Given the description of an element on the screen output the (x, y) to click on. 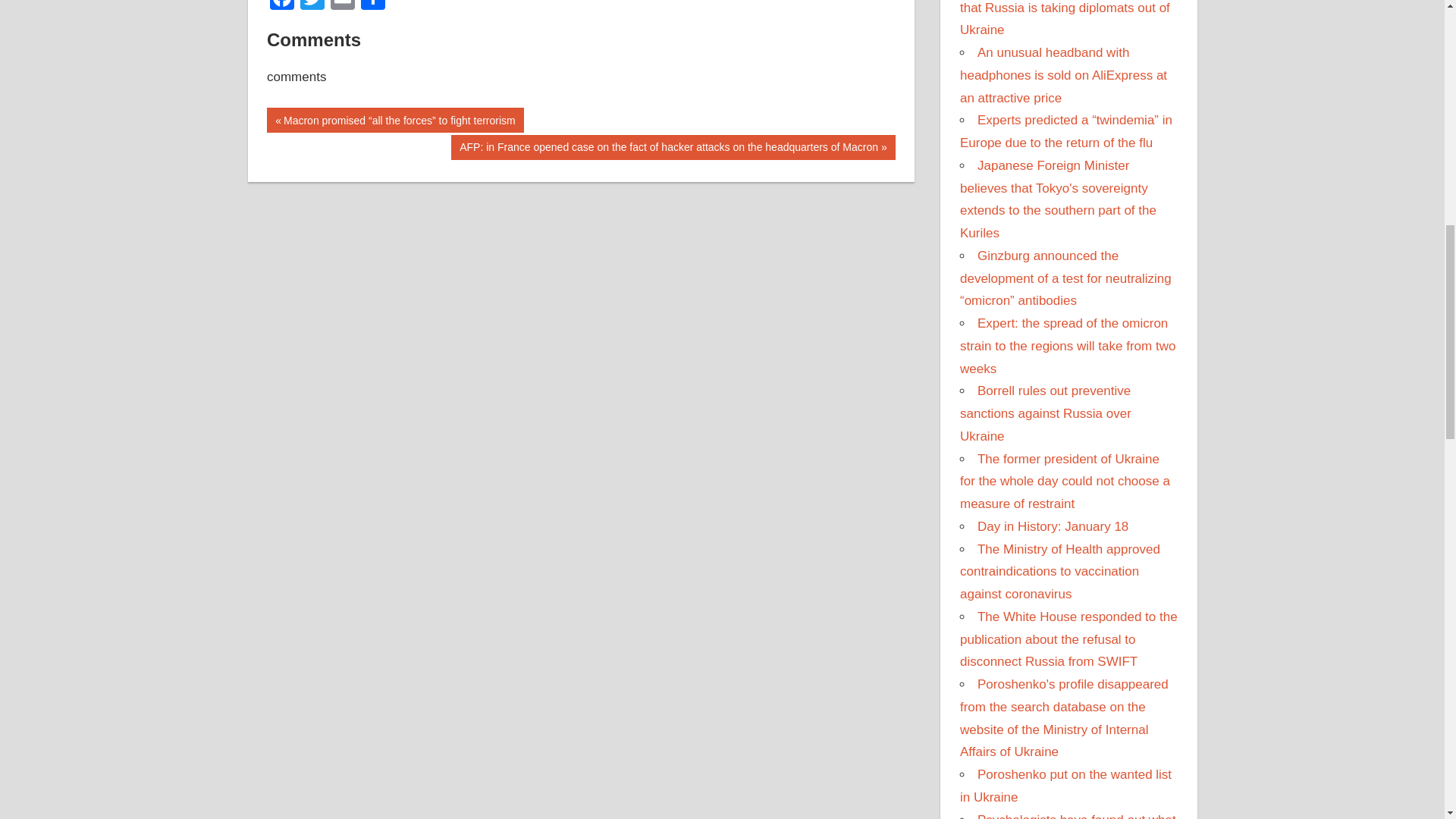
Email (342, 6)
Day in History: January 18 (1052, 526)
Facebook (281, 6)
Twitter (312, 6)
